Given the description of an element on the screen output the (x, y) to click on. 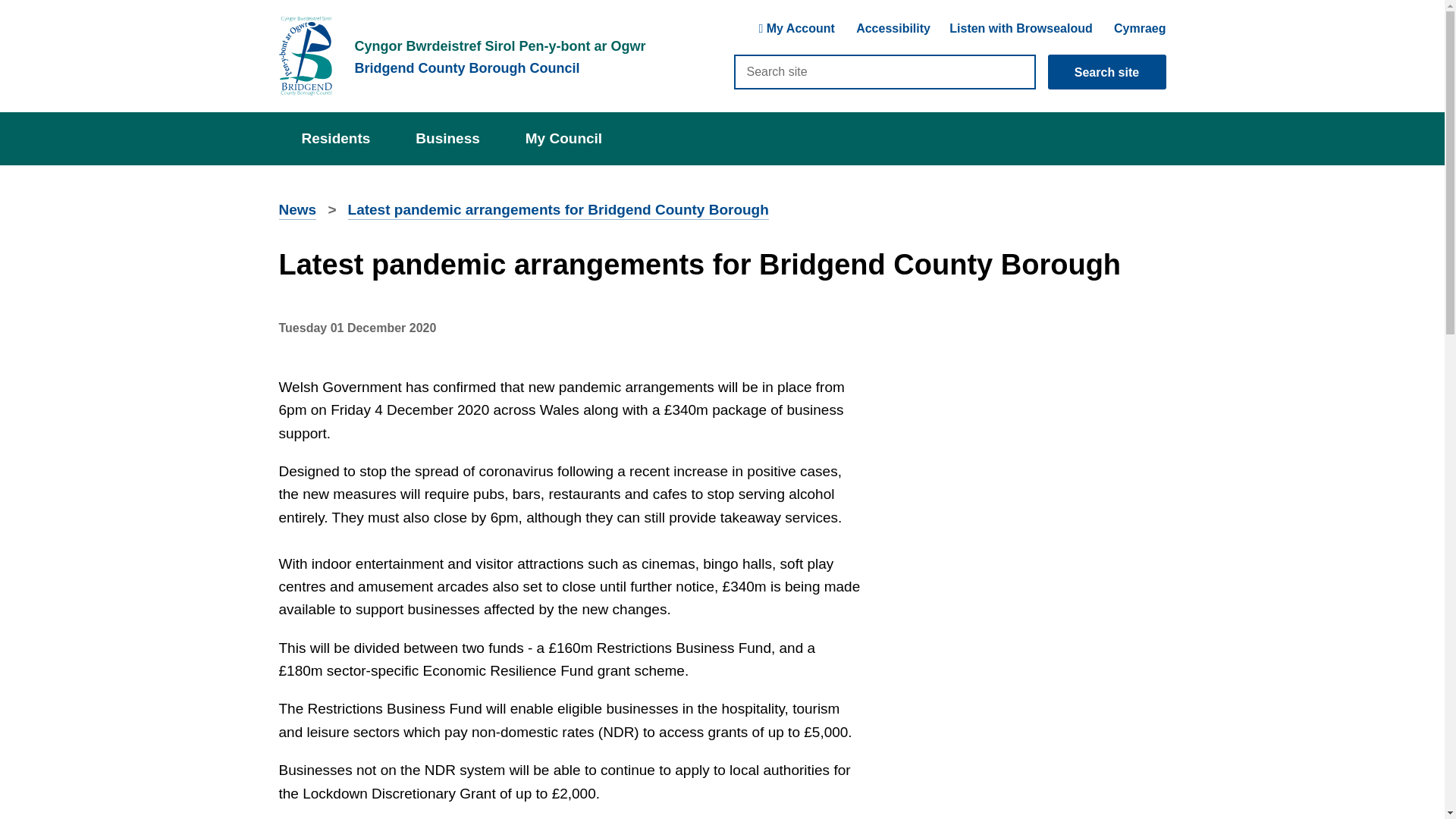
Residents (336, 138)
Cymraeg (1139, 29)
Search site (884, 71)
News (298, 210)
Accessibility (893, 29)
Search site (1107, 71)
My Account (796, 29)
Latest pandemic arrangements for Bridgend County Borough (557, 210)
My Council (563, 138)
Business (447, 138)
Cymraeg (1139, 29)
Residents (336, 138)
Business (447, 138)
My Council (563, 138)
